Given the description of an element on the screen output the (x, y) to click on. 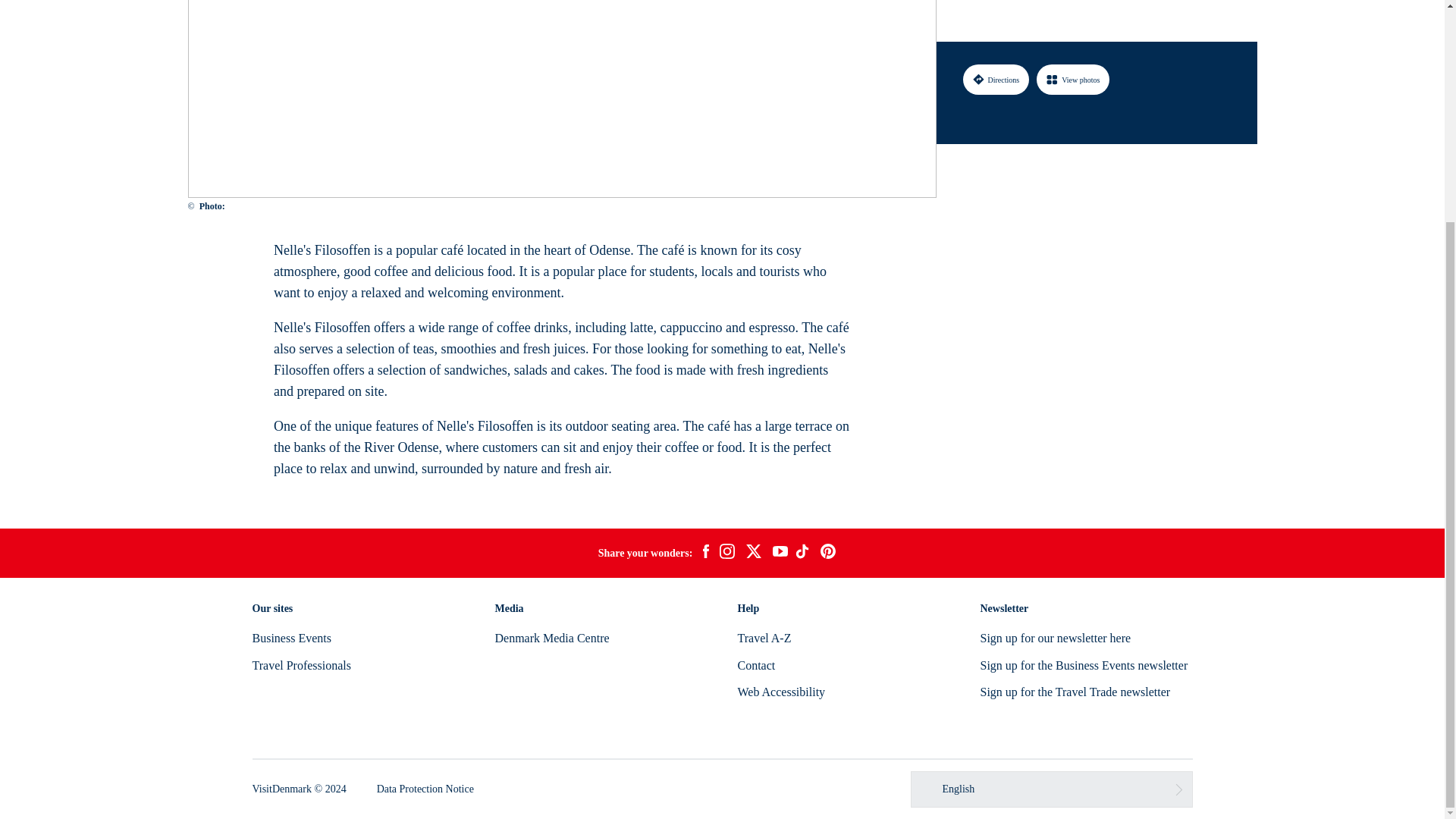
facebook (705, 553)
Sign up for our newsletter here (1055, 637)
Contact (755, 665)
Data Protection Notice (425, 789)
instagram (726, 553)
Travel A-Z (763, 637)
Sign up for our newsletter here (1055, 637)
Web Accessibility (780, 691)
Travel Professionals (300, 665)
Denmark Media Centre (551, 637)
Web Accessibility (780, 691)
tiktok (804, 553)
Sign up for the Travel Trade newsletter (1074, 691)
youtube (780, 553)
Sign up for the Travel Trade newsletter (1074, 691)
